Given the description of an element on the screen output the (x, y) to click on. 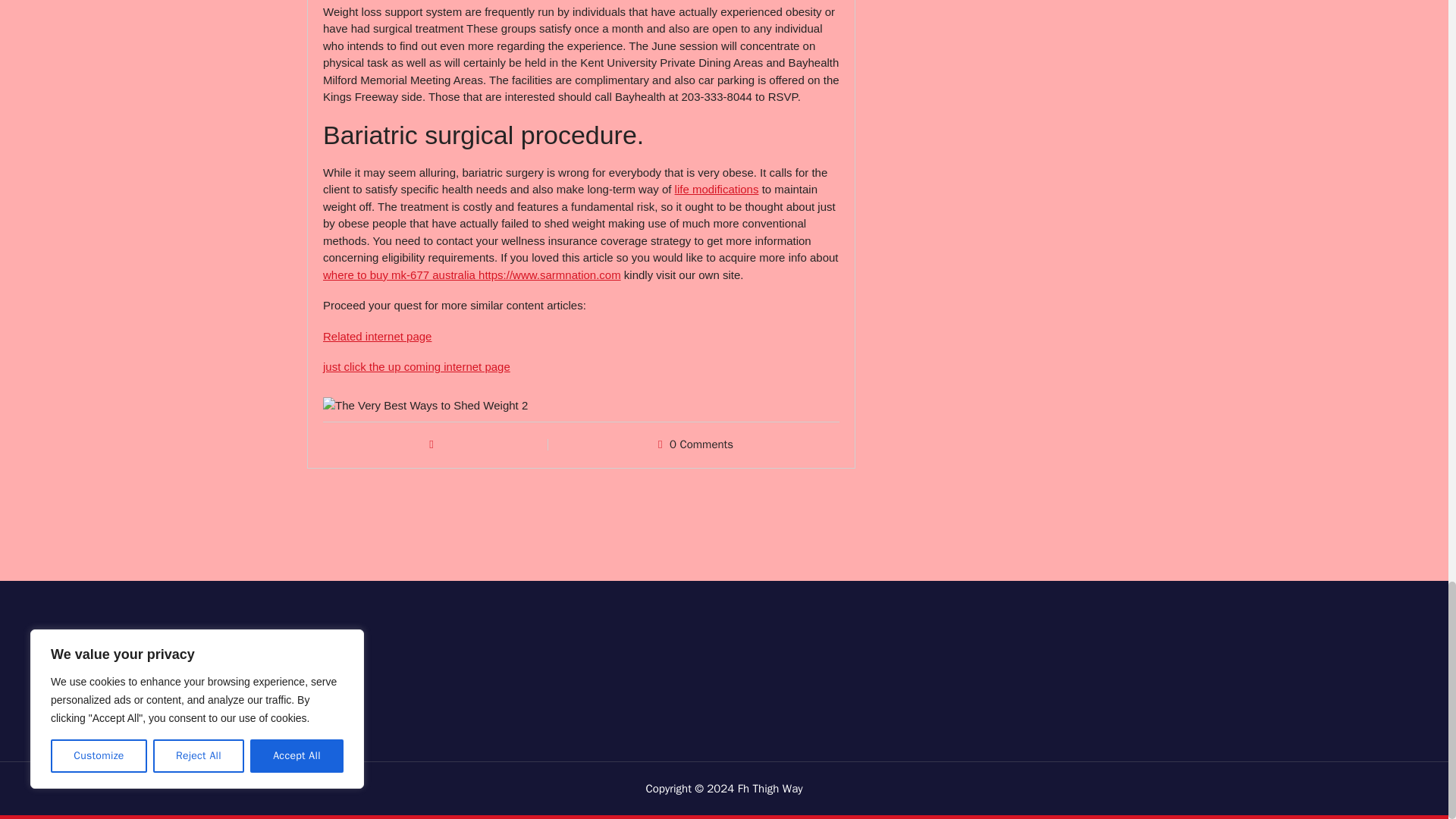
Related internet page (376, 336)
life modifications (716, 188)
just click the up coming internet page (417, 366)
